Given the description of an element on the screen output the (x, y) to click on. 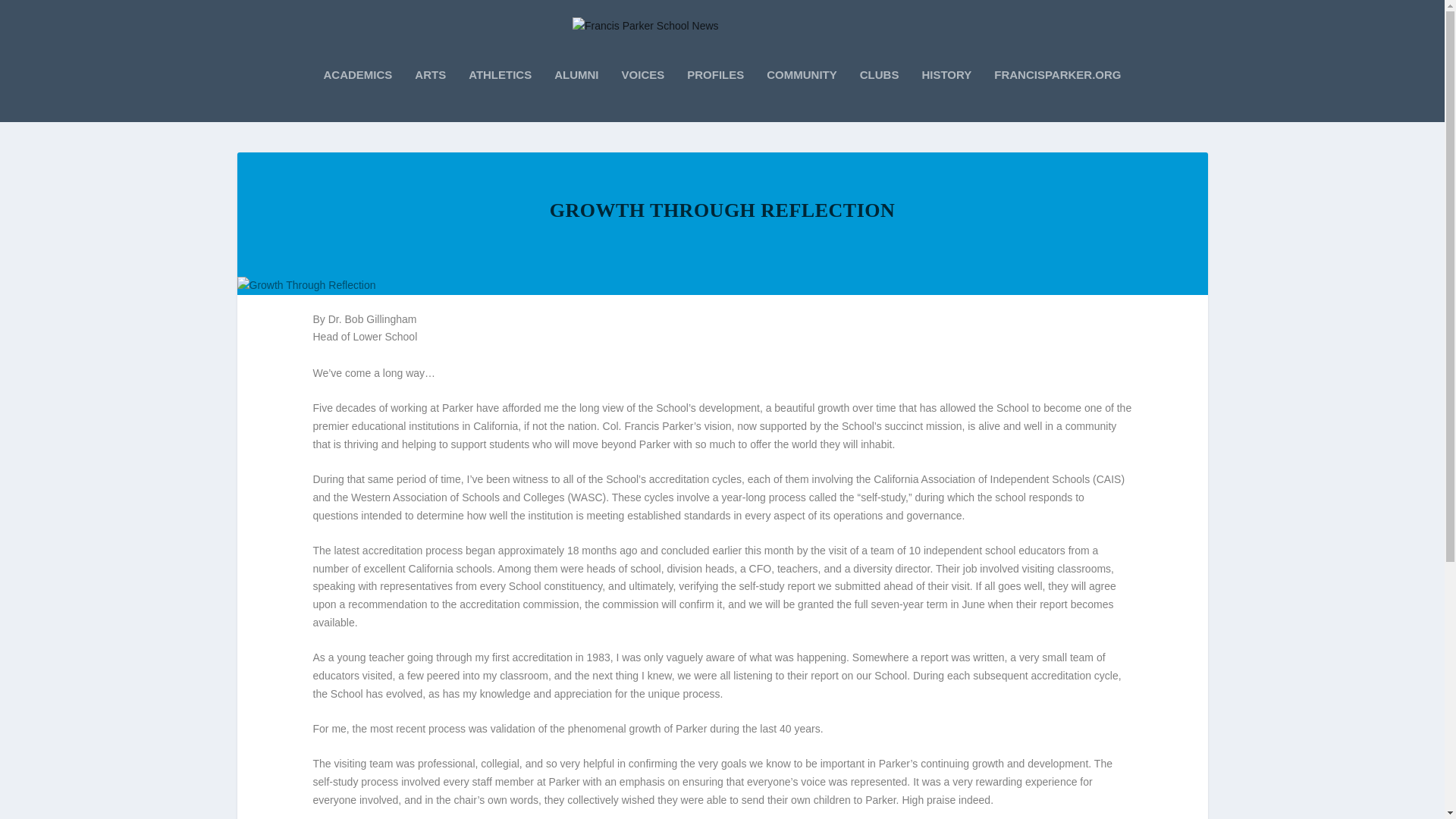
HISTORY (946, 95)
ACADEMICS (357, 95)
PROFILES (715, 95)
COMMUNITY (802, 95)
ATHLETICS (499, 95)
FRANCISPARKER.ORG (1057, 95)
